Given the description of an element on the screen output the (x, y) to click on. 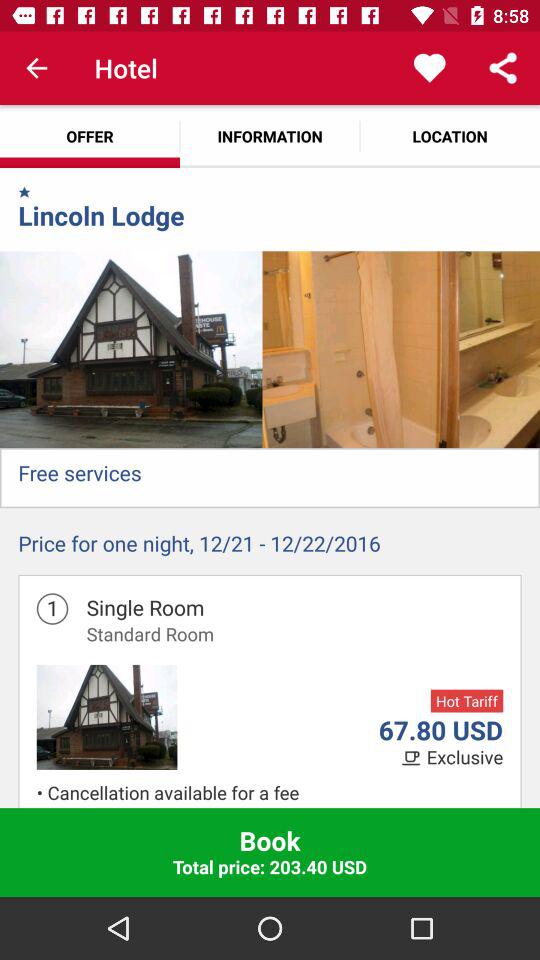
choose icon below the location (499, 349)
